Given the description of an element on the screen output the (x, y) to click on. 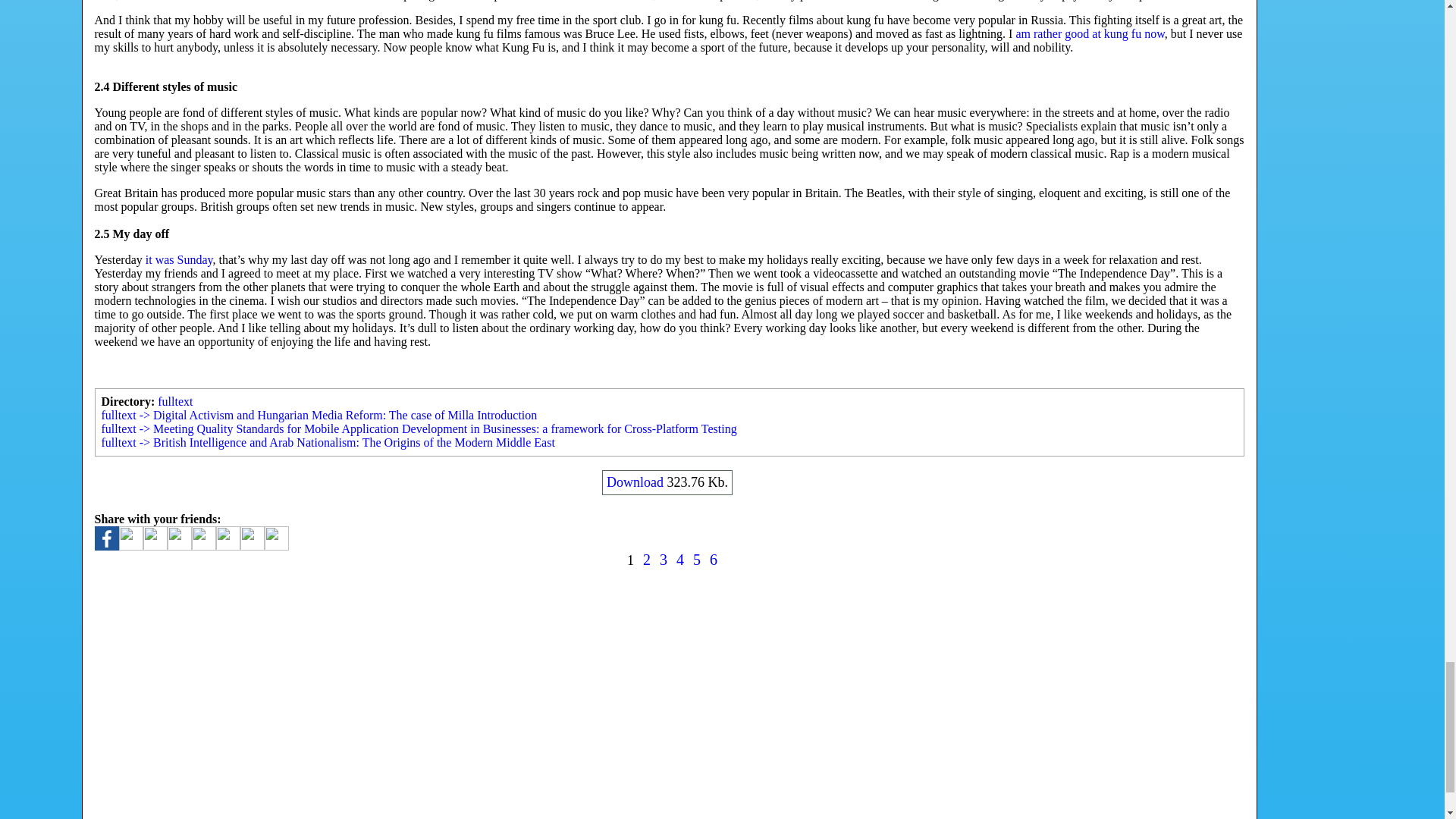
it was Sunday (178, 259)
fulltext (174, 400)
am rather good at kung fu now (1088, 33)
